Given the description of an element on the screen output the (x, y) to click on. 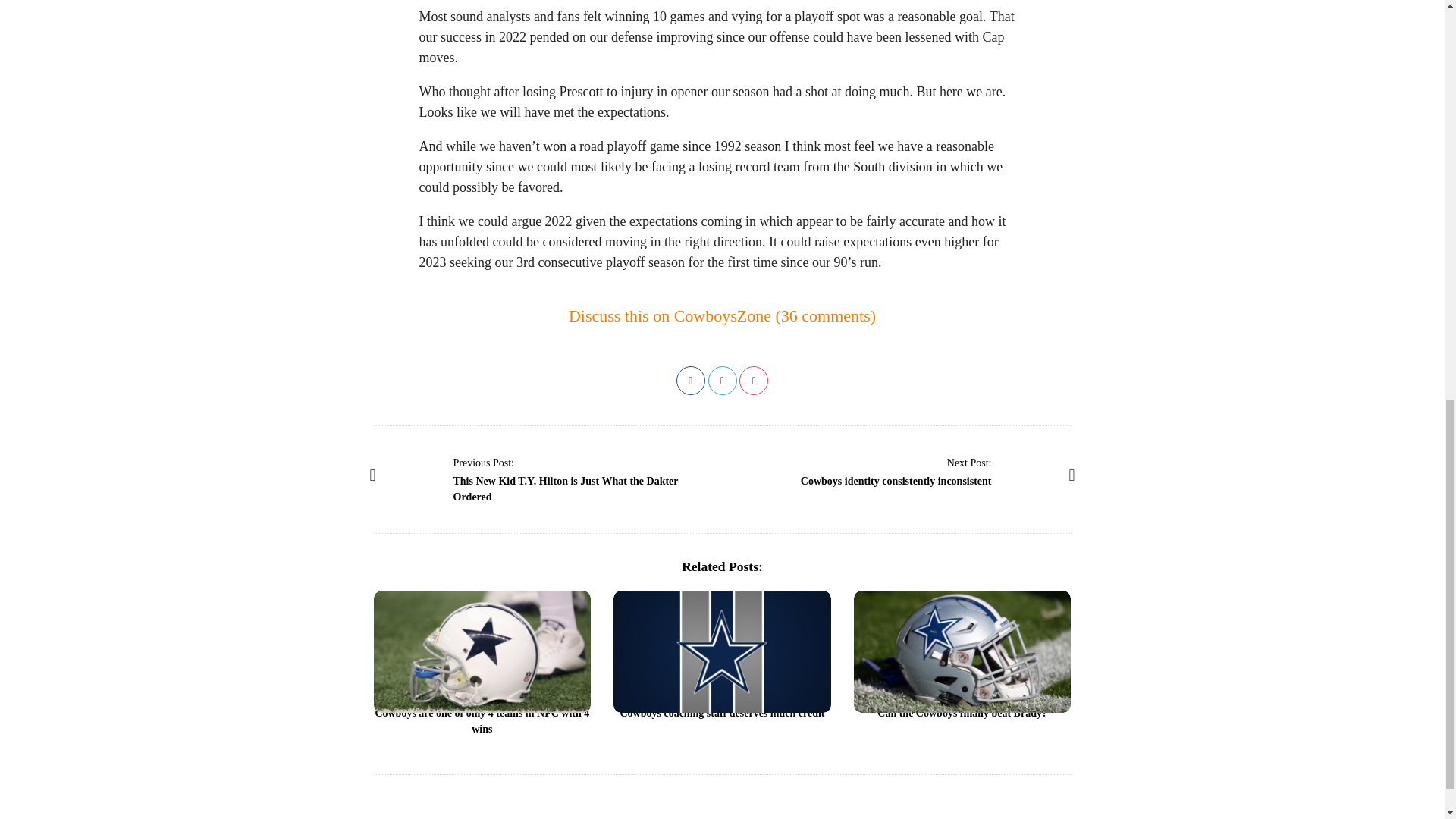
Cowboys coaching staff deserves much credit (721, 651)
Cowboys identity consistently inconsistent (895, 480)
Cowboys identity consistently inconsistent (969, 462)
Can the Cowboys finally beat Brady? (961, 713)
Next Post: (969, 462)
This New Kid T.Y. Hilton is Just What the Dakter Ordered (483, 462)
Cowboys are one of only 4 teams in NFC with 4 wins (481, 720)
Previous Post: (483, 462)
Cowboys are one of only 4 teams in NFC with 4 wins (481, 720)
Cowboys coaching staff deserves much credit (722, 713)
